Given the description of an element on the screen output the (x, y) to click on. 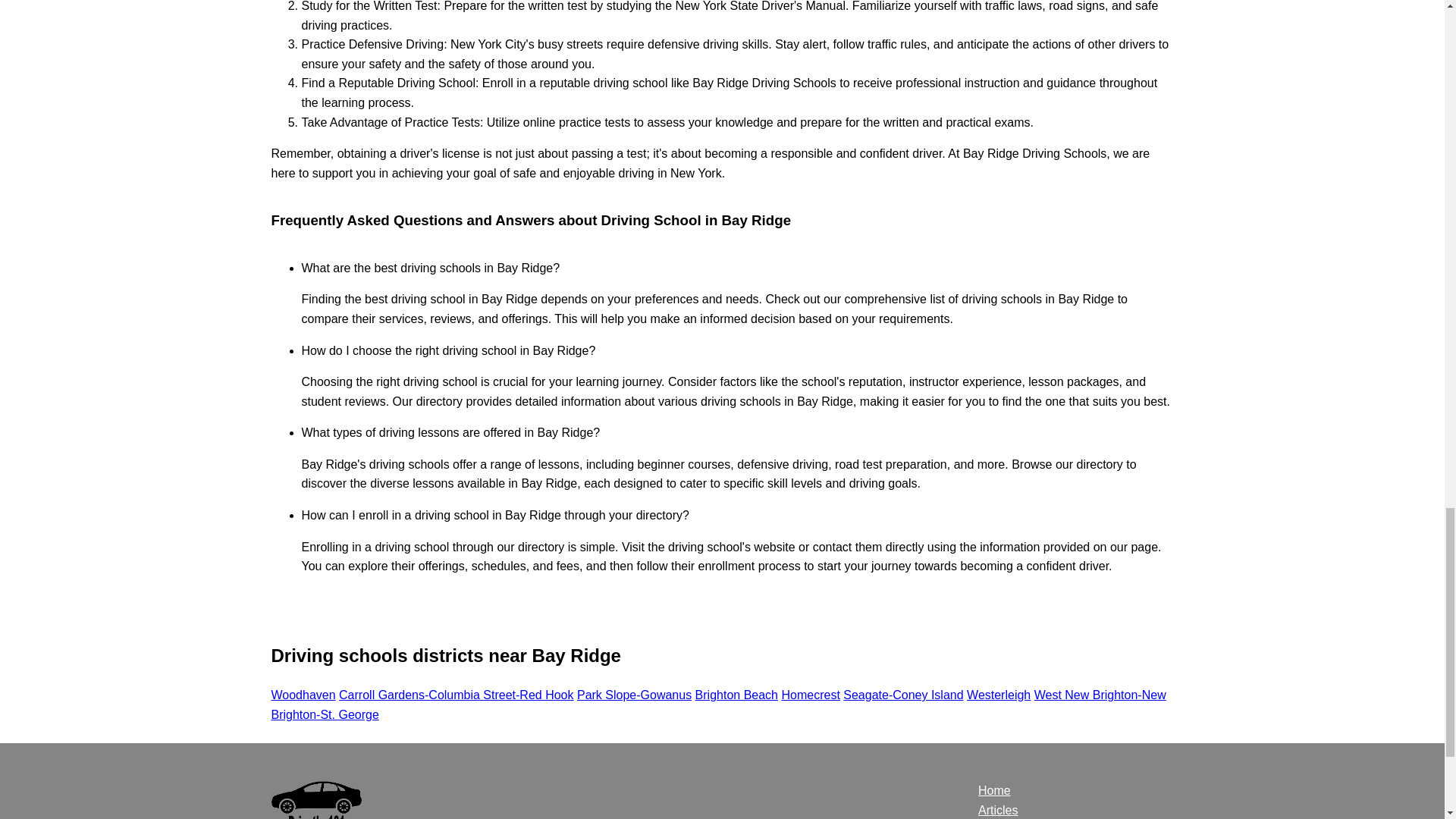
Carroll Gardens-Columbia Street-Red Hook (456, 694)
Brighton Beach (736, 694)
Seagate-Coney Island (902, 694)
Woodhaven (303, 694)
Homecrest (810, 694)
Park Slope-Gowanus (633, 694)
Articles (997, 809)
Home (994, 789)
West New Brighton-New Brighton-St. George (718, 704)
Westerleigh (998, 694)
